Given the description of an element on the screen output the (x, y) to click on. 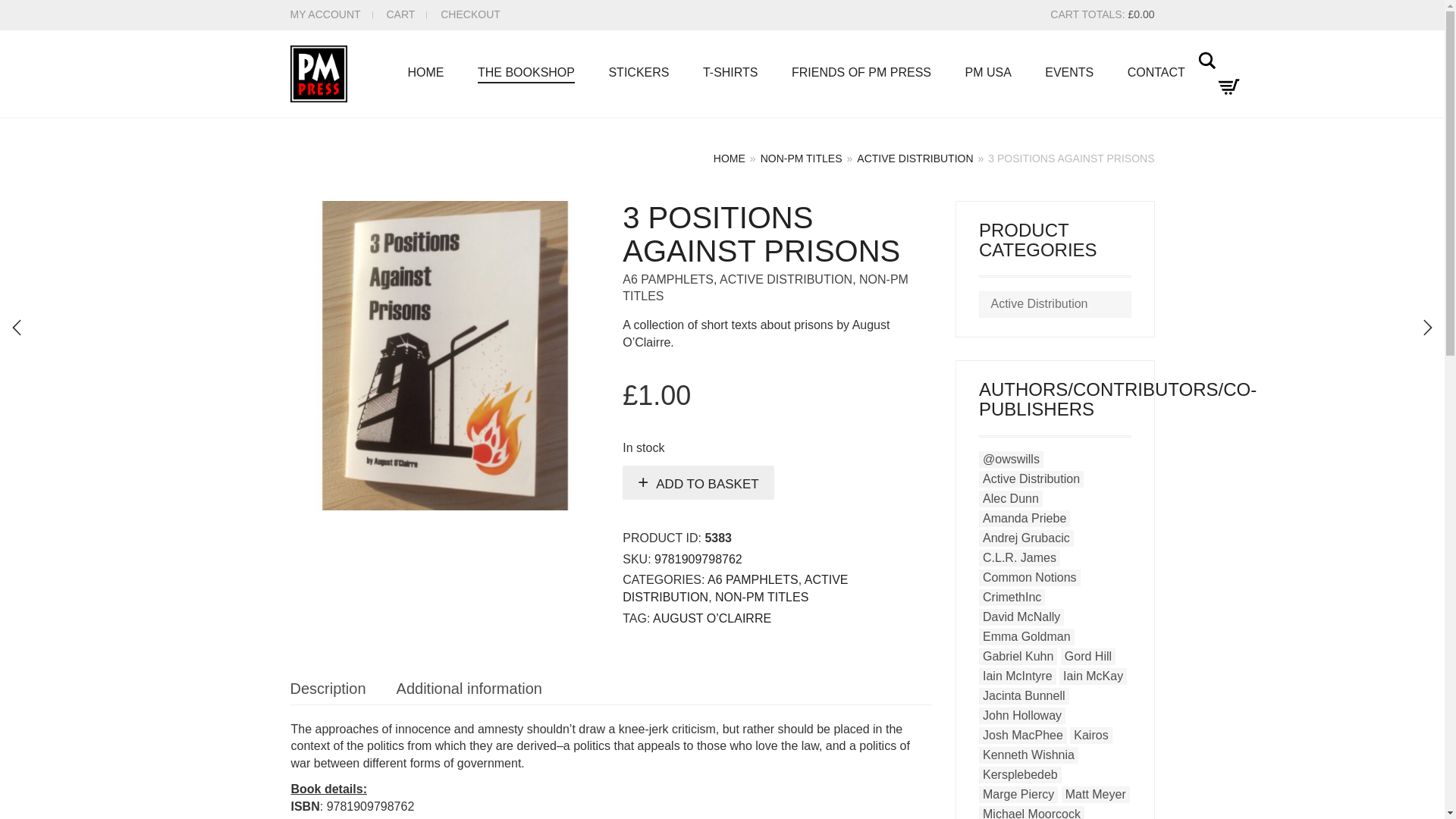
NON-PM TITLES (765, 287)
CONTACT (1155, 73)
MY ACCOUNT (324, 14)
T-SHIRTS (730, 73)
NON-PM TITLES (801, 159)
STICKERS (638, 73)
HOME (426, 73)
PM USA (987, 73)
CART (399, 14)
FRIENDS OF PM PRESS (861, 73)
